Given the description of an element on the screen output the (x, y) to click on. 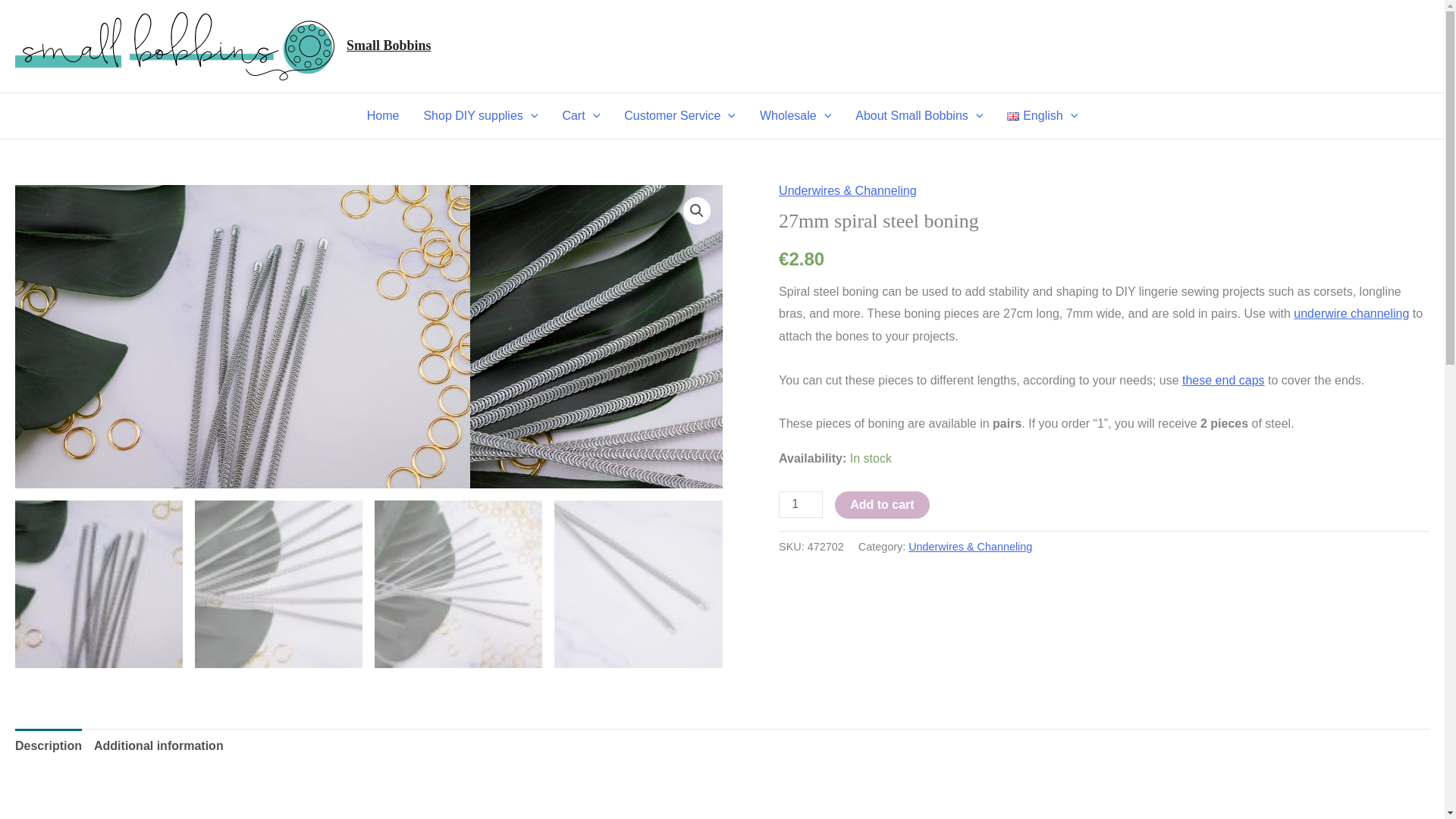
1 (800, 504)
Small Bobbins (388, 45)
Shop DIY supplies (480, 115)
Home (383, 115)
